Given the description of an element on the screen output the (x, y) to click on. 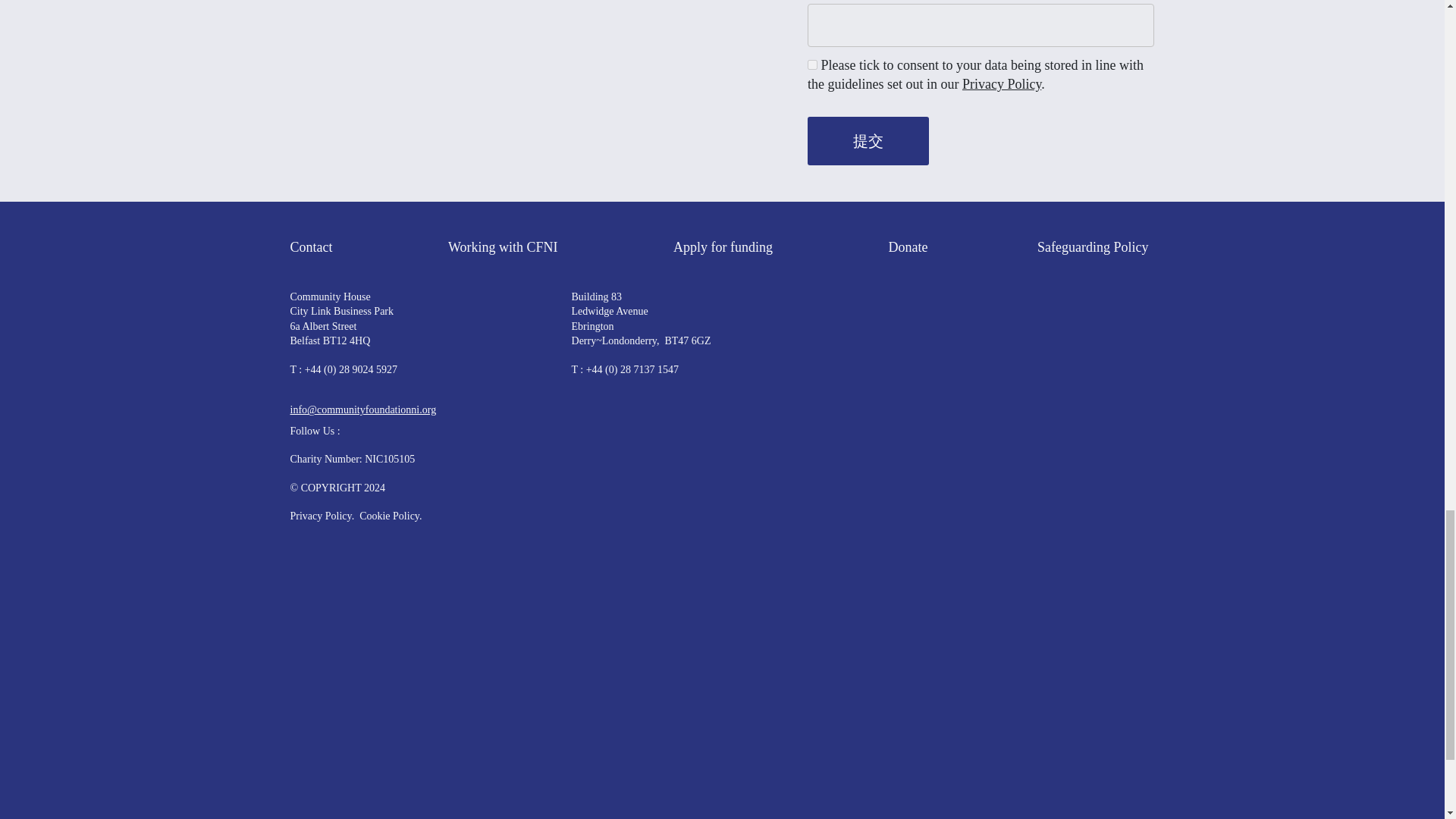
1 (812, 64)
